Given the description of an element on the screen output the (x, y) to click on. 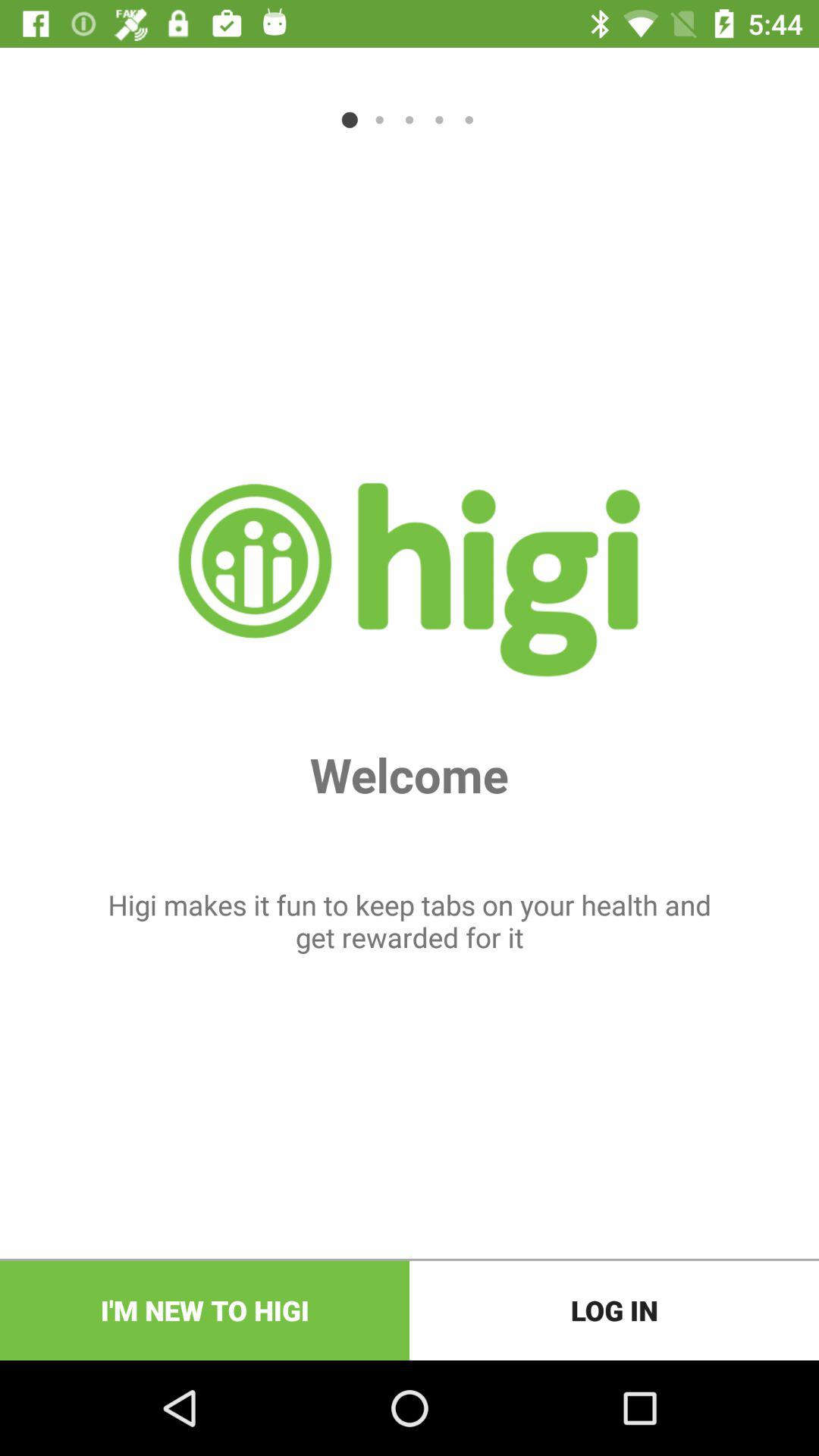
choose icon to the right of the i m new item (614, 1310)
